Given the description of an element on the screen output the (x, y) to click on. 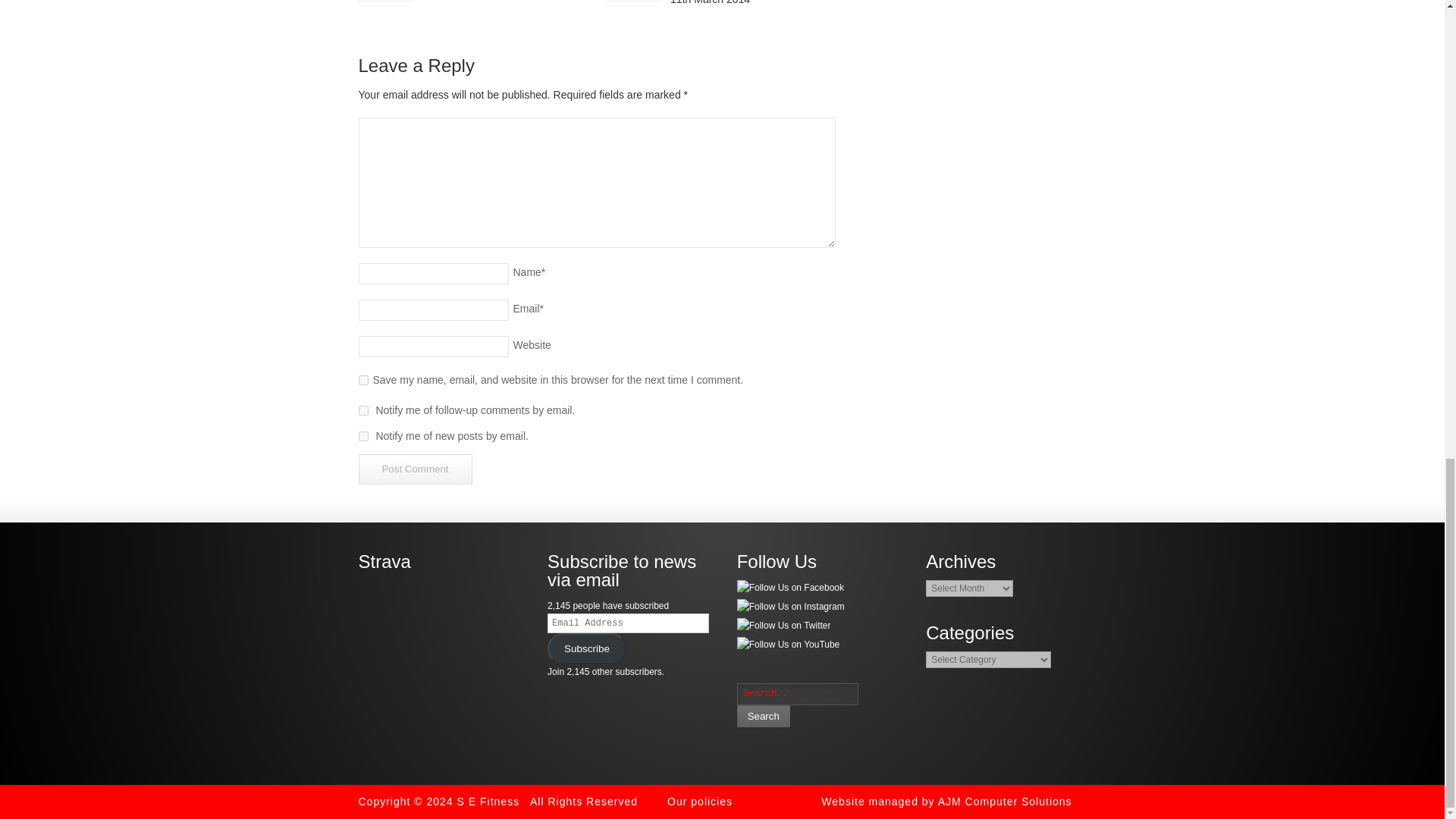
Post Comment (414, 469)
subscribe (363, 436)
Search.. (797, 694)
yes (363, 379)
subscribe (363, 410)
